Given the description of an element on the screen output the (x, y) to click on. 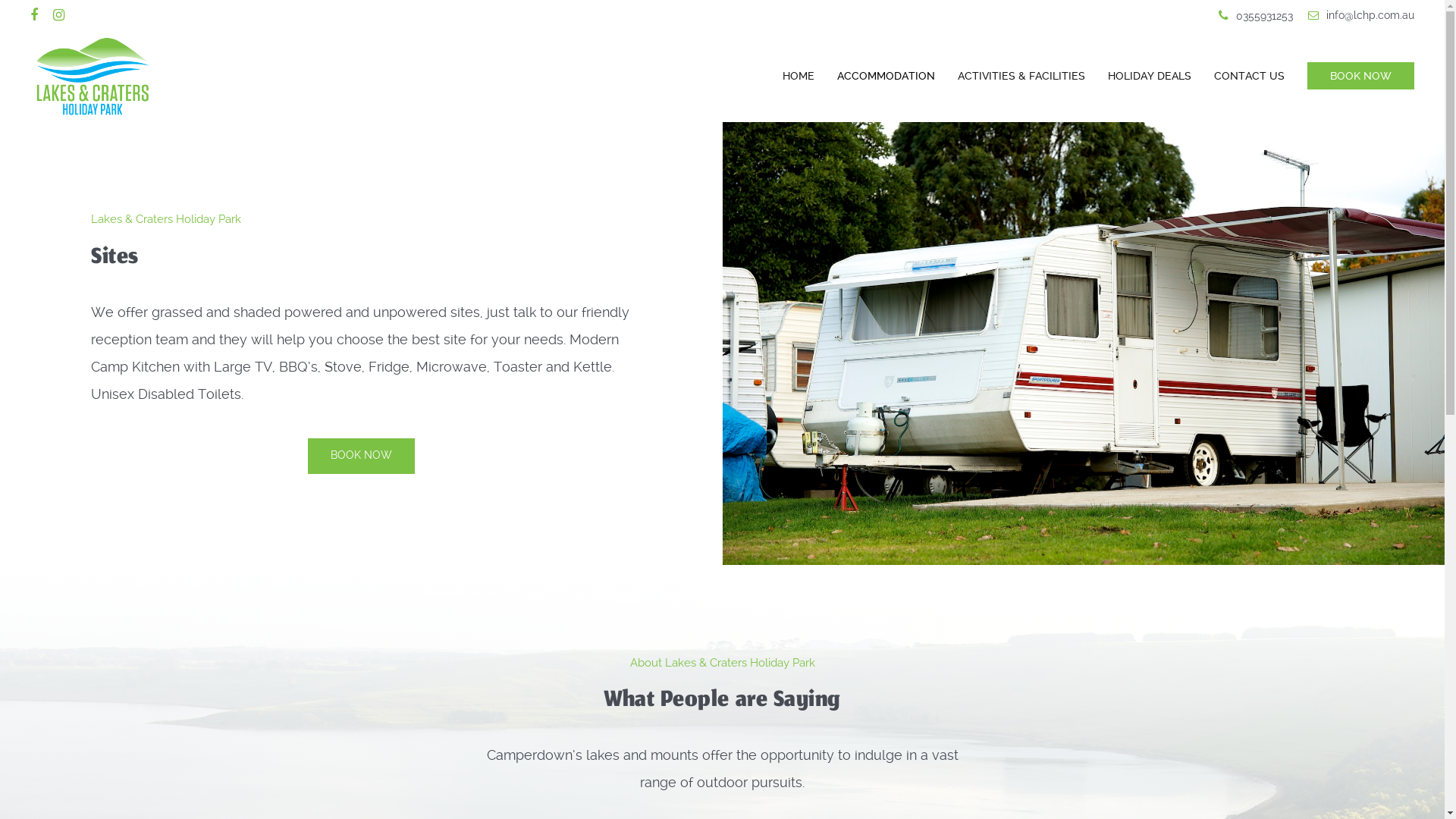
HOLIDAY DEALS Element type: text (1149, 75)
CONTACT US Element type: text (1248, 75)
info@lchp.com.au Element type: text (1361, 15)
HOME Element type: text (798, 75)
ACCOMMODATION Element type: text (885, 75)
BOOK NOW Element type: text (1354, 75)
BOOK NOW Element type: text (360, 455)
ACTIVITIES & FACILITIES Element type: text (1021, 75)
